Given the description of an element on the screen output the (x, y) to click on. 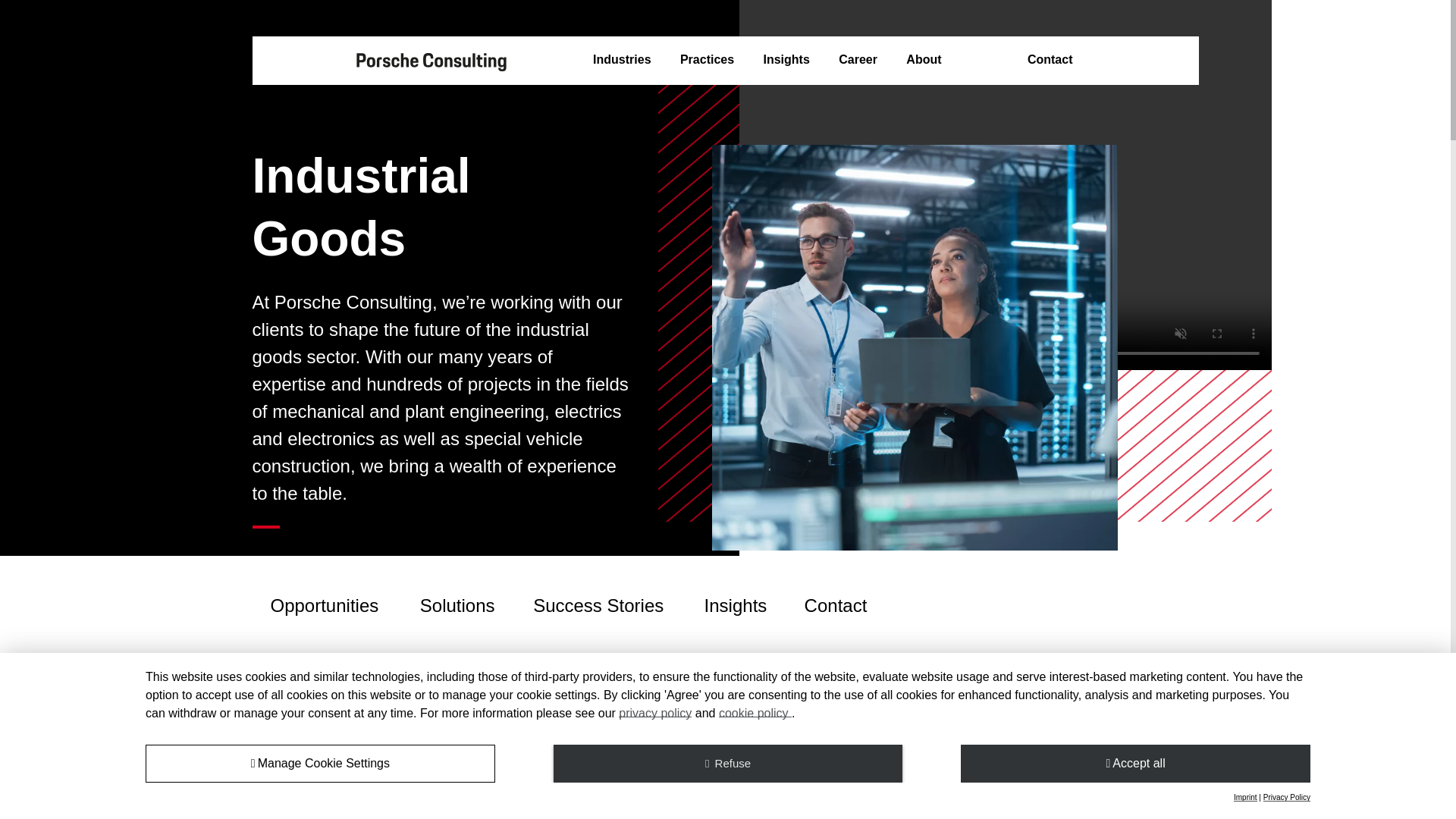
About (922, 60)
Industries (621, 60)
Contact (1050, 60)
Insights (785, 60)
Career (857, 60)
Practices (706, 60)
